Given the description of an element on the screen output the (x, y) to click on. 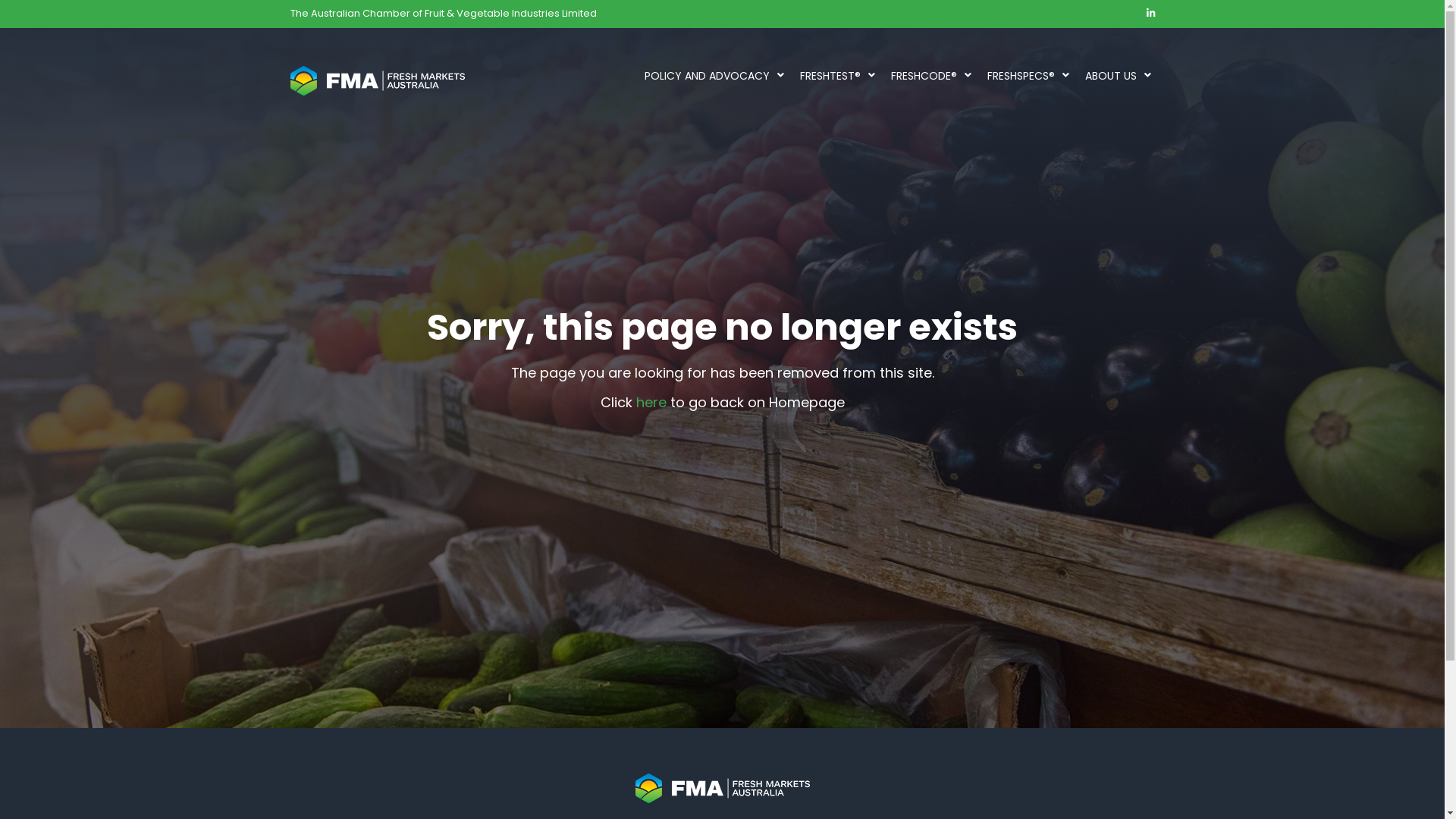
POLICY AND ADVOCACY Element type: text (709, 75)
here Element type: text (650, 401)
ABOUT US Element type: text (1113, 75)
